Given the description of an element on the screen output the (x, y) to click on. 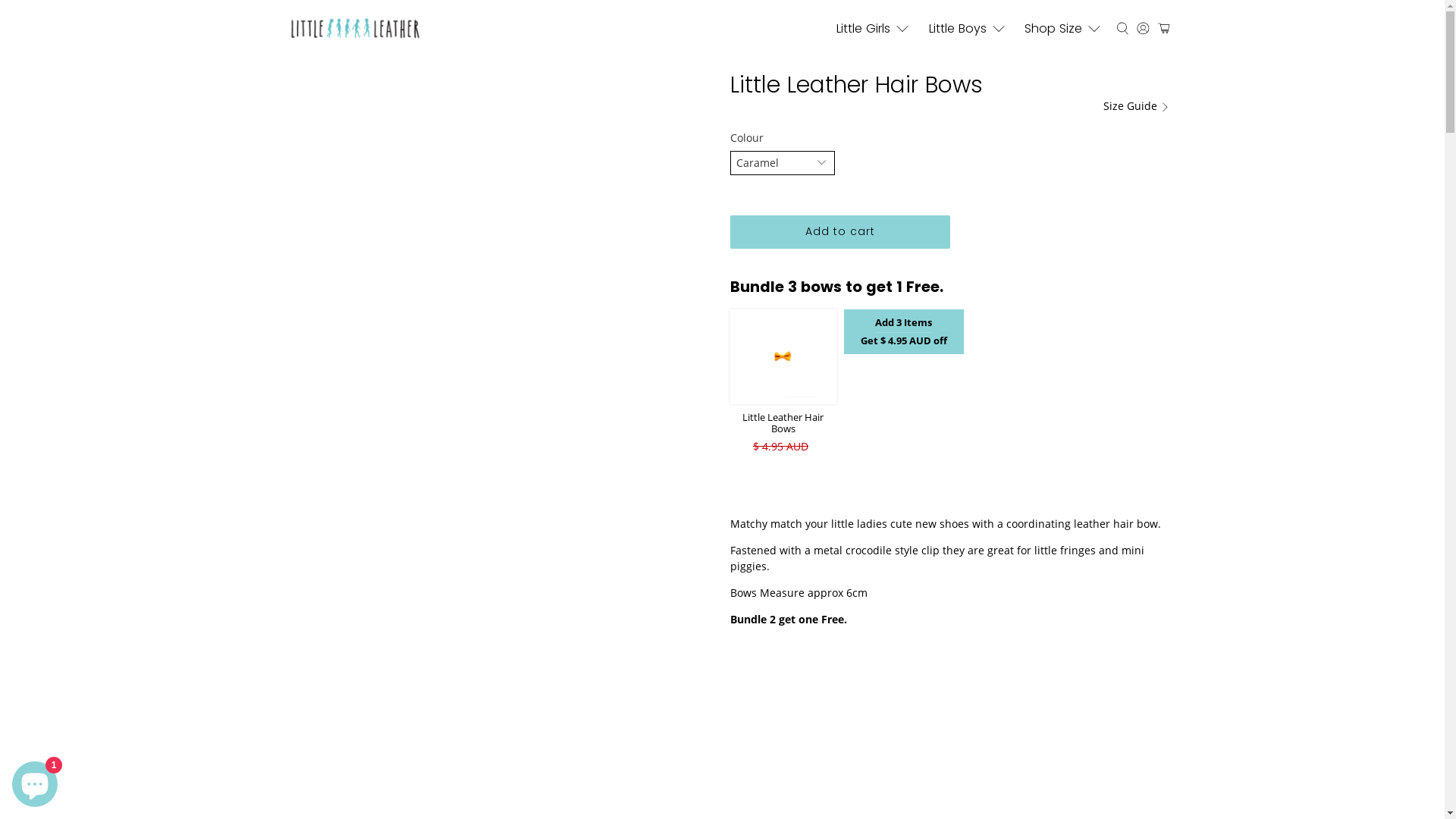
Shopify online store chat Element type: hover (34, 780)
Little Boys Element type: text (968, 28)
Size Guide Element type: text (1136, 105)
Add to cart Element type: text (839, 231)
Little Girls Element type: text (874, 28)
Little Leather Soft Sole Baby Shoes Element type: hover (354, 28)
Shop Size Element type: text (1064, 28)
Add 3 Items
Get $ 4.95 AUD off Element type: text (903, 331)
Little Leather Hair Bows Element type: text (782, 422)
